Given the description of an element on the screen output the (x, y) to click on. 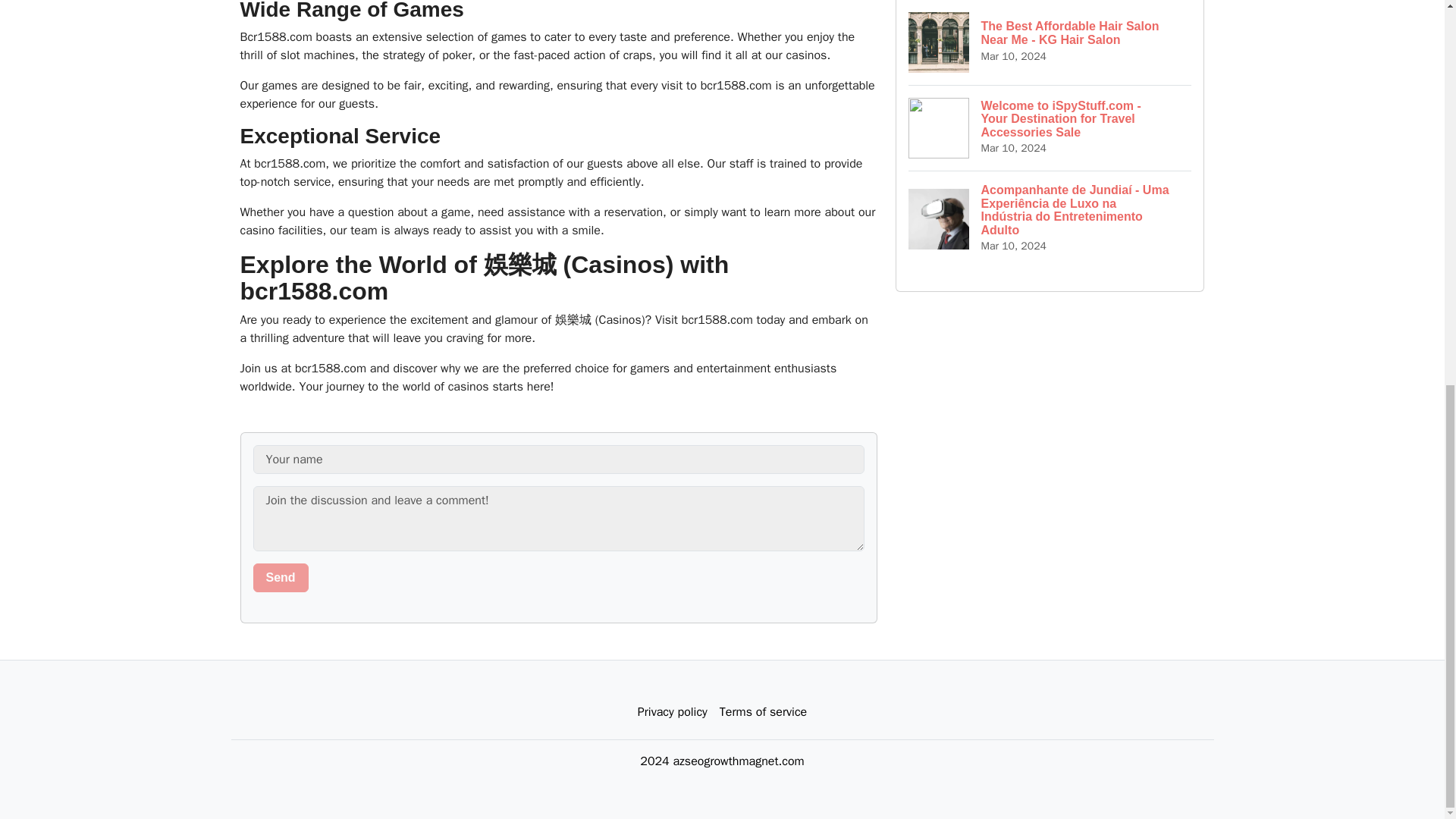
Send (280, 577)
Send (280, 577)
Terms of service (762, 711)
Privacy policy (672, 711)
